Given the description of an element on the screen output the (x, y) to click on. 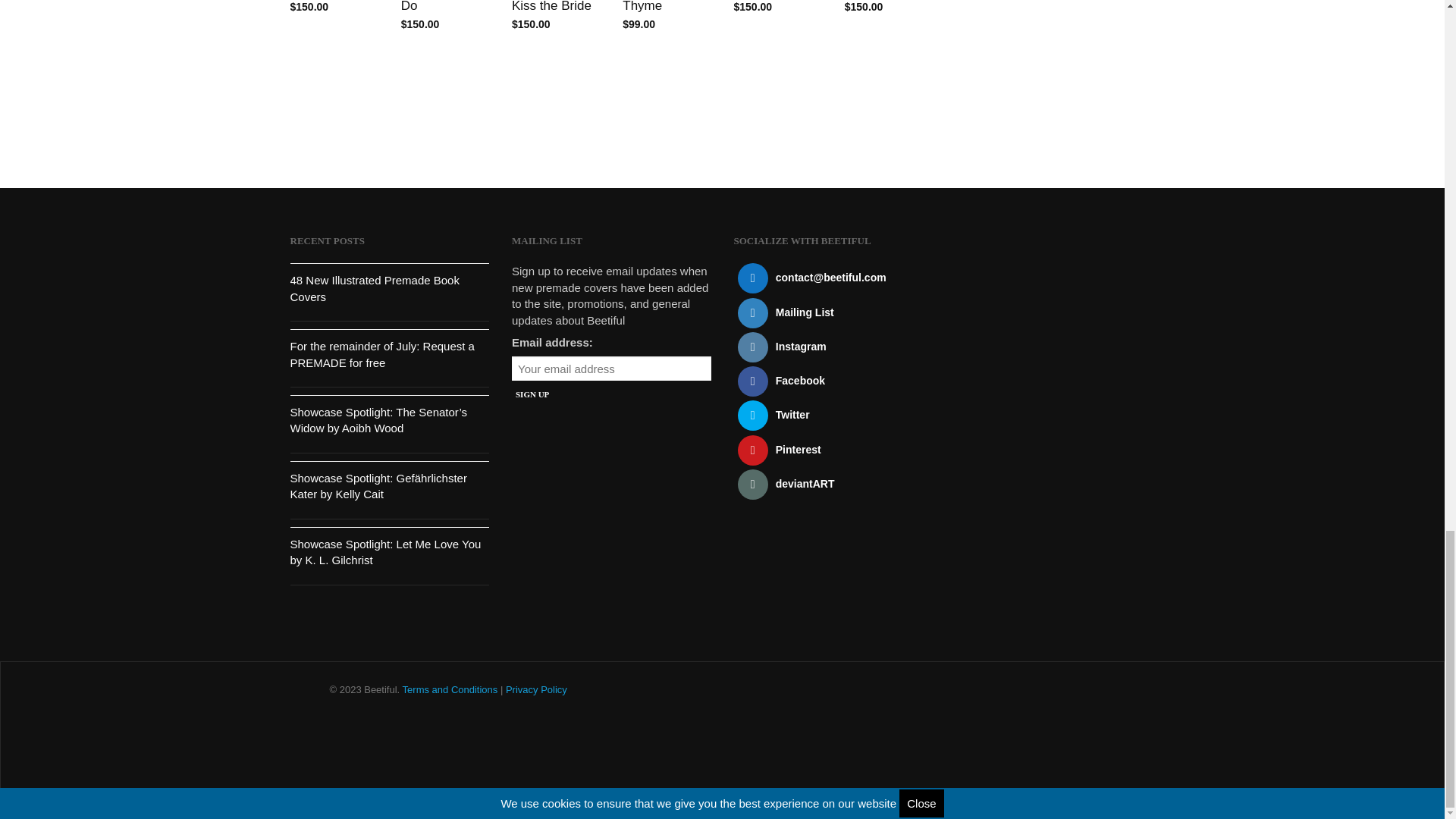
Sign up (532, 394)
